Given the description of an element on the screen output the (x, y) to click on. 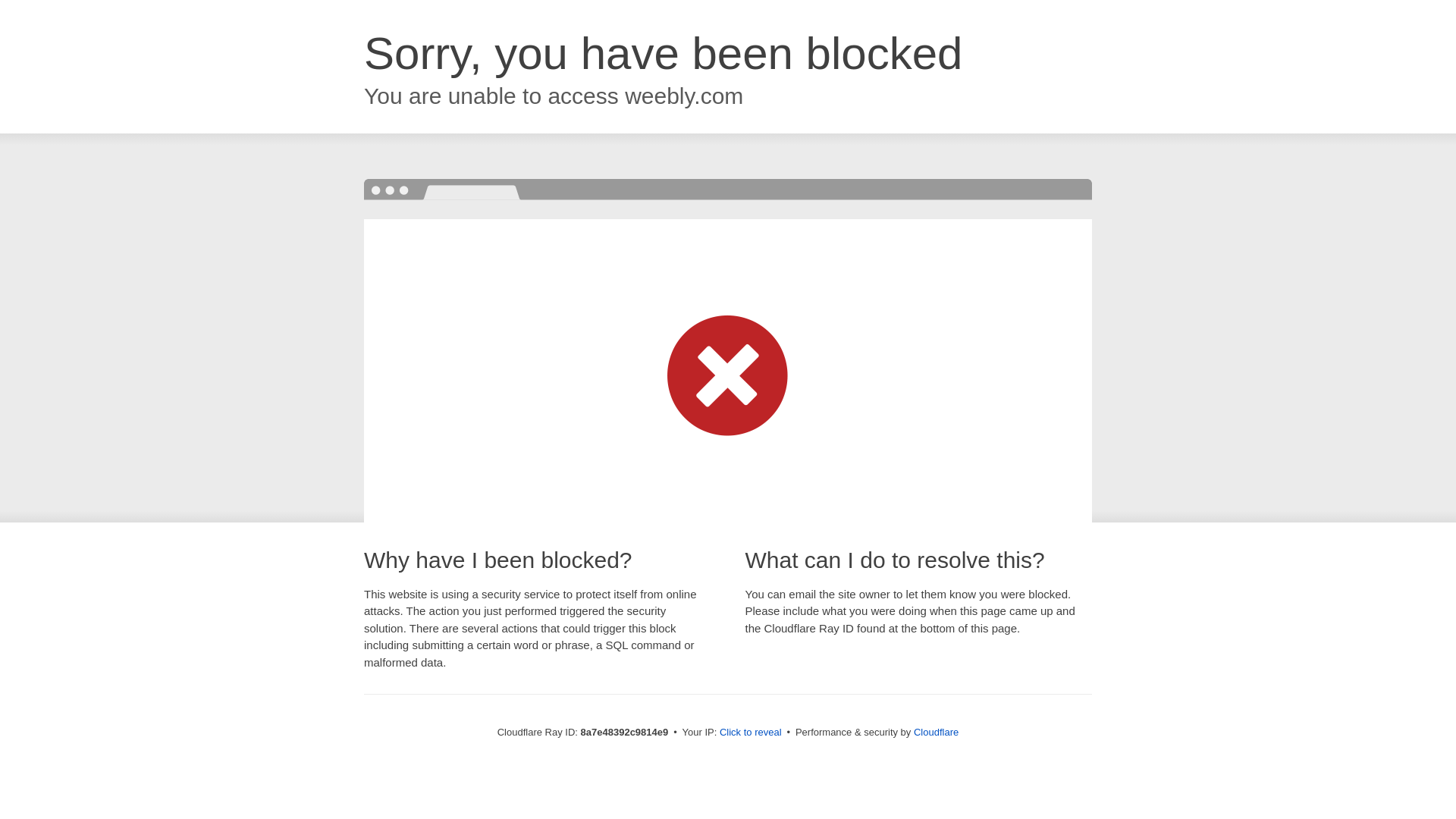
Click to reveal (750, 732)
Cloudflare (936, 731)
